Given the description of an element on the screen output the (x, y) to click on. 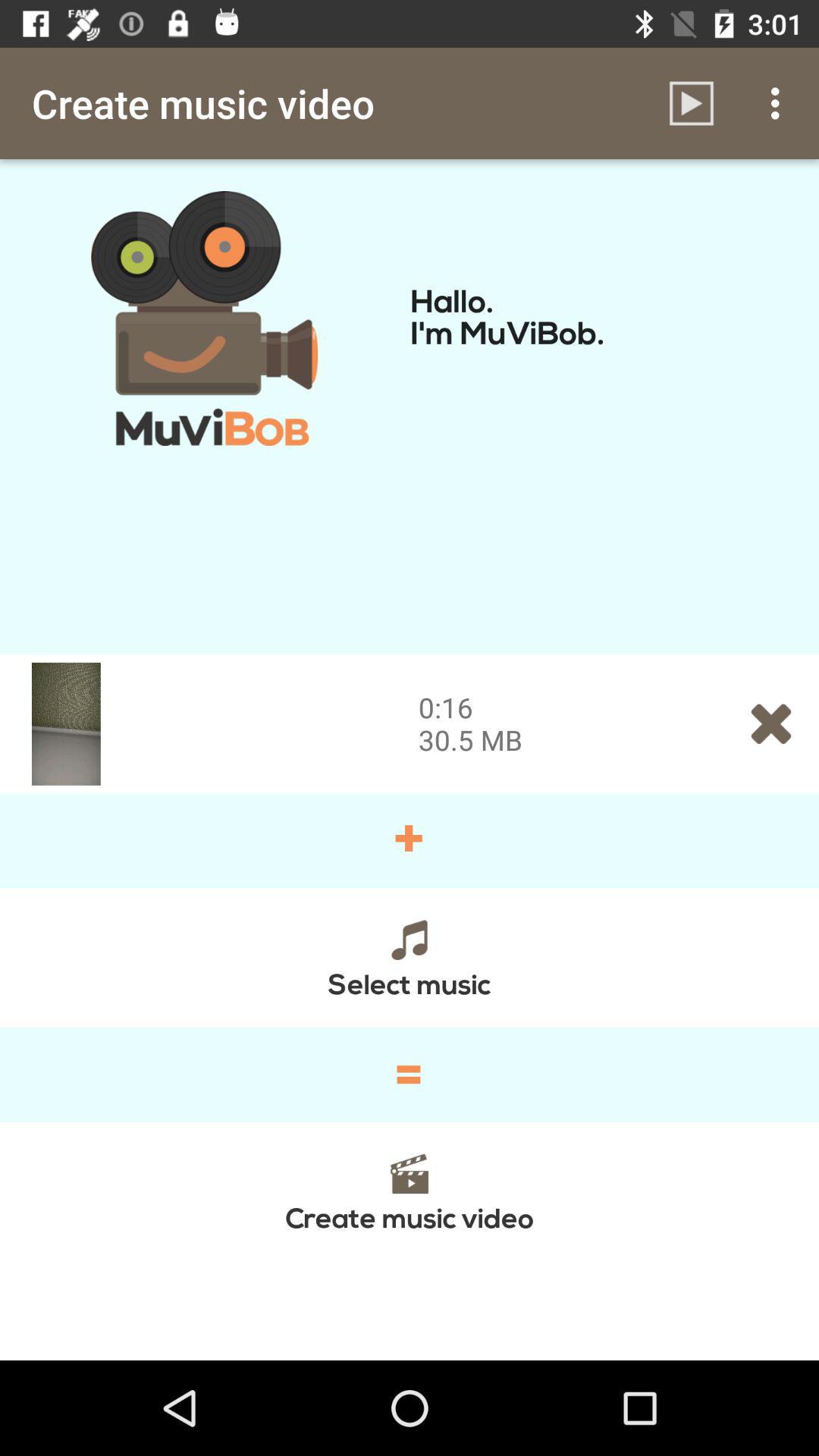
open icon below the + item (409, 957)
